Given the description of an element on the screen output the (x, y) to click on. 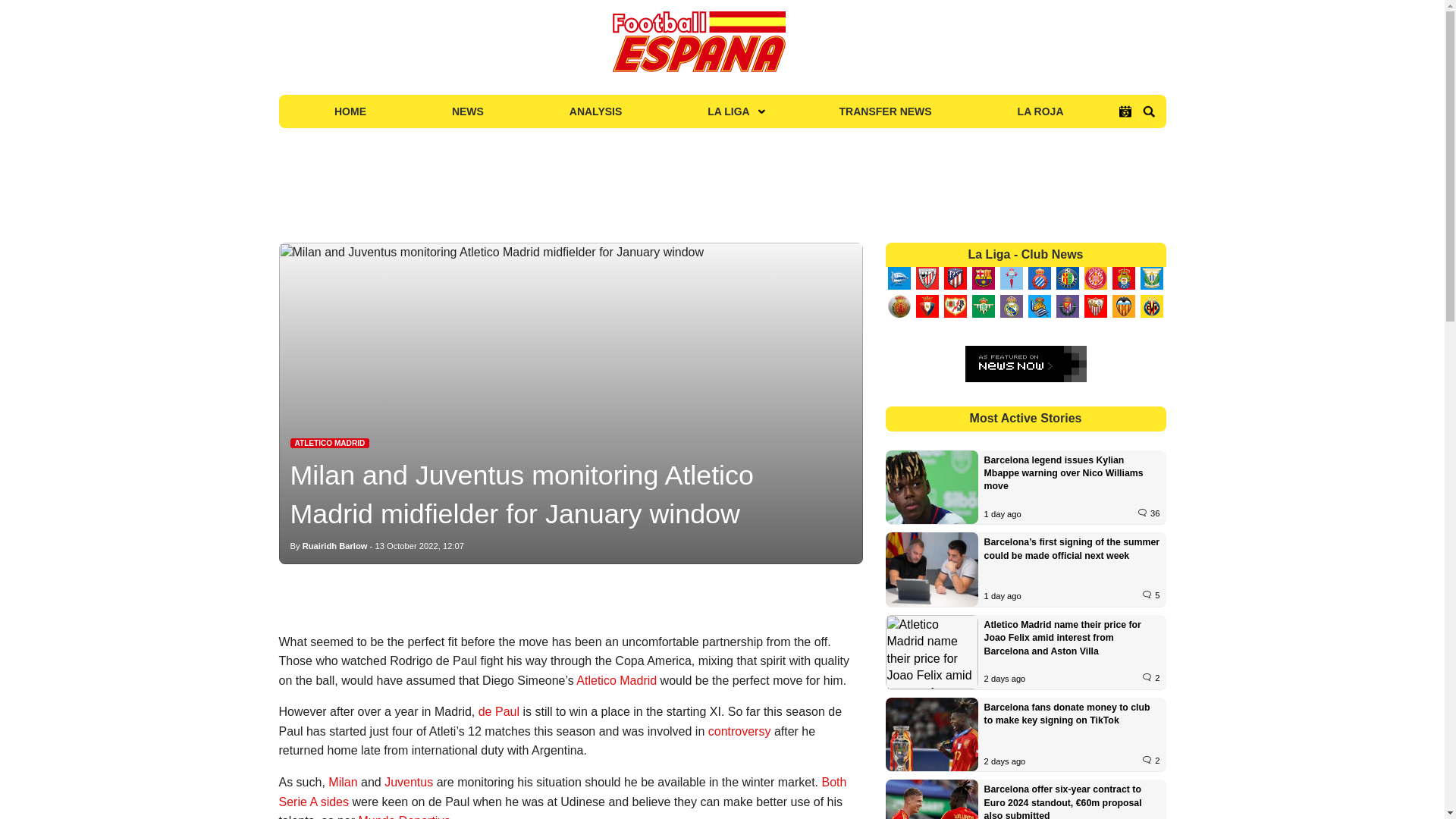
NEWS (468, 111)
HOME (350, 111)
LA LIGA (729, 111)
La Liga Fixtures (1125, 111)
Latest Atletico Madrid News (329, 442)
ANALYSIS (595, 111)
TRANSFER NEWS (885, 111)
Search (1147, 111)
LA ROJA (1040, 111)
